Given the description of an element on the screen output the (x, y) to click on. 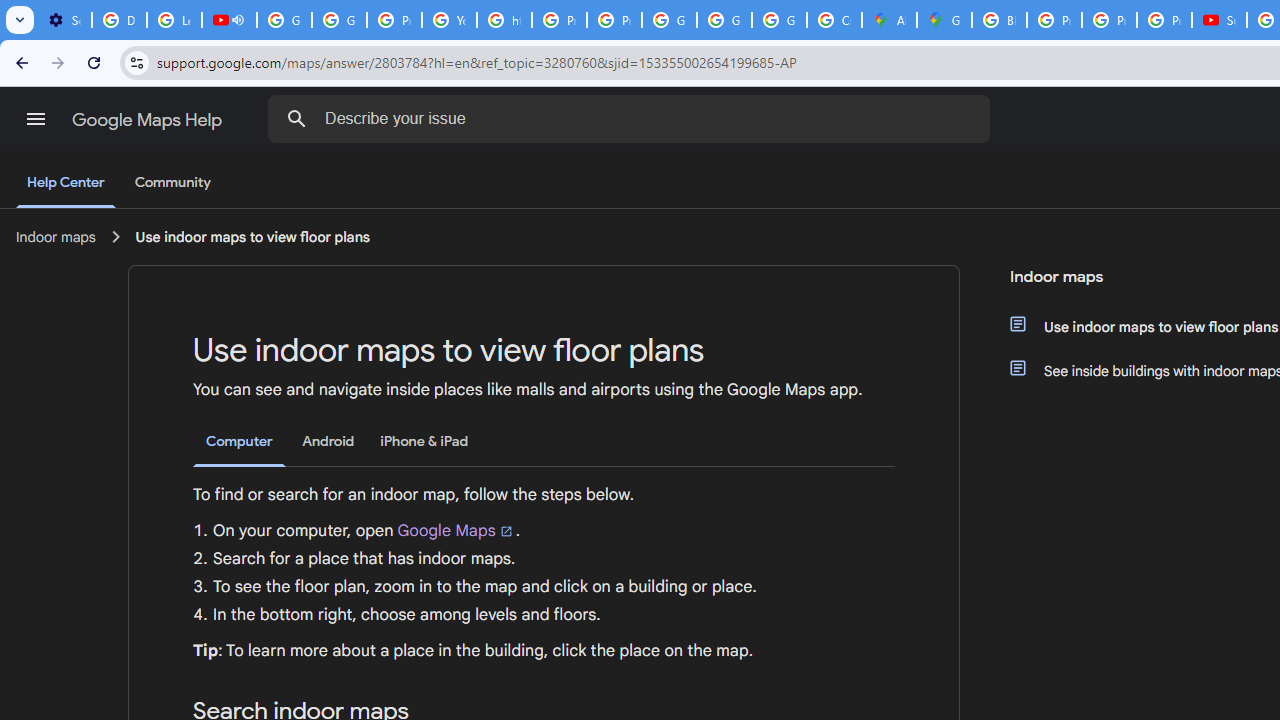
Help Center (65, 183)
YouTube (449, 20)
Google Maps (455, 530)
iPhone & iPad (424, 441)
Search Help Center (297, 118)
